Given the description of an element on the screen output the (x, y) to click on. 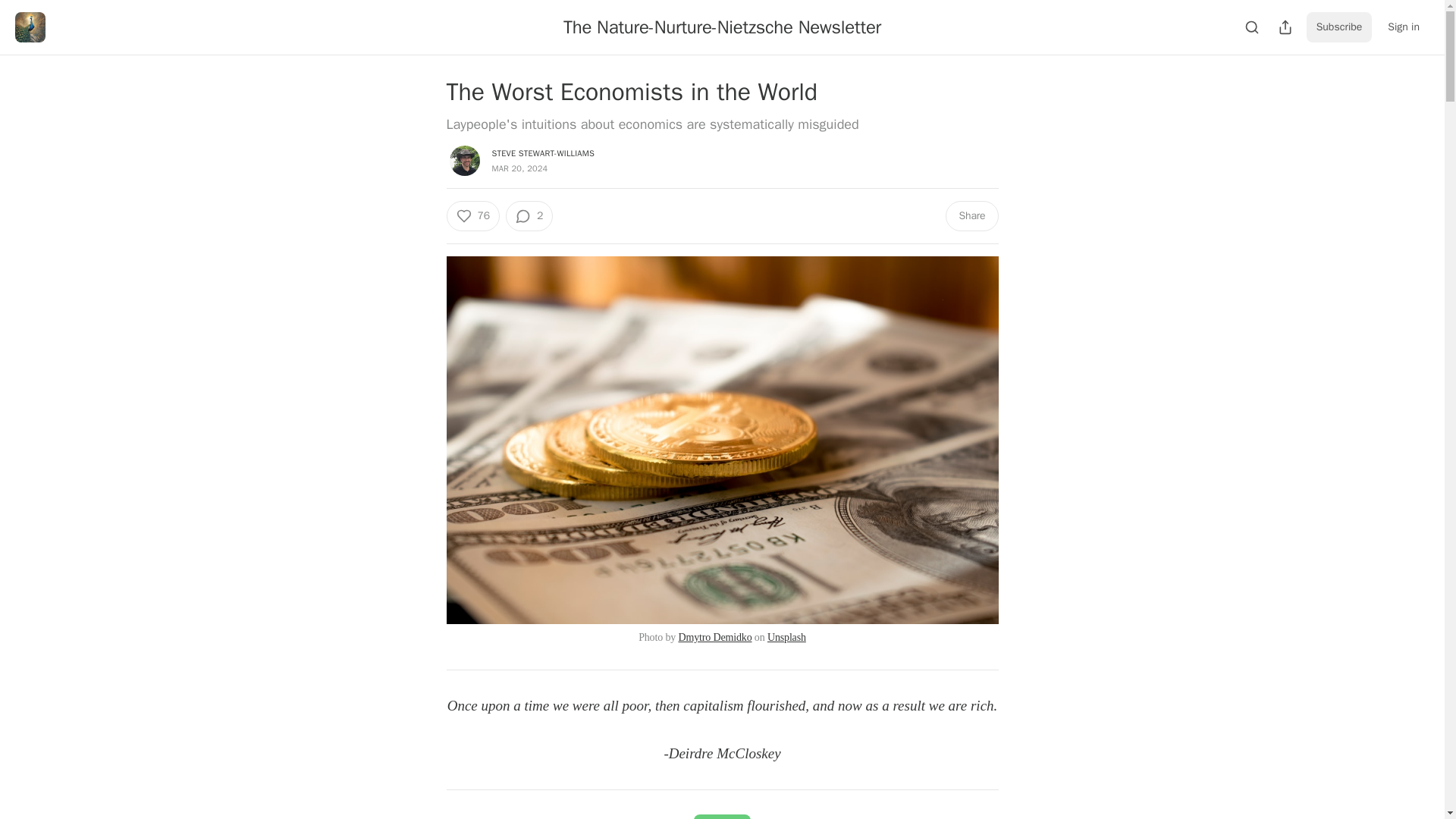
STEVE STEWART-WILLIAMS (543, 153)
2 (529, 215)
Unsplash (786, 636)
Subscribe (1339, 27)
Dmytro Demidko (714, 636)
76 (472, 215)
The Nature-Nurture-Nietzsche Newsletter (721, 26)
Share (970, 215)
Share (722, 816)
